Given the description of an element on the screen output the (x, y) to click on. 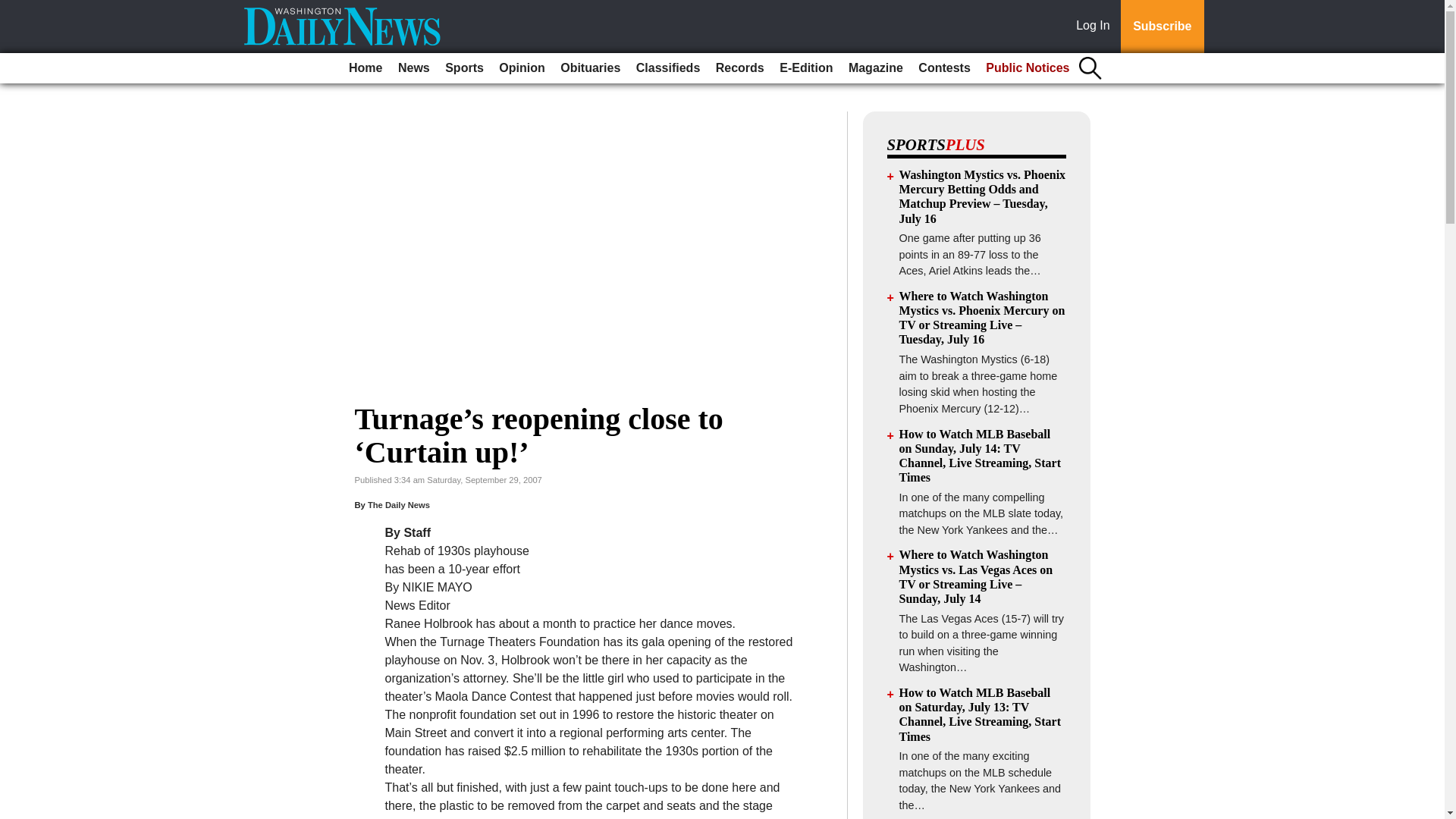
News (413, 68)
Public Notices (1027, 68)
The Daily News (398, 504)
Classifieds (668, 68)
Log In (1095, 26)
E-Edition (805, 68)
Records (740, 68)
Sports (464, 68)
Contests (943, 68)
Magazine (875, 68)
Home (365, 68)
Subscribe (1162, 26)
Opinion (521, 68)
Obituaries (590, 68)
